Given the description of an element on the screen output the (x, y) to click on. 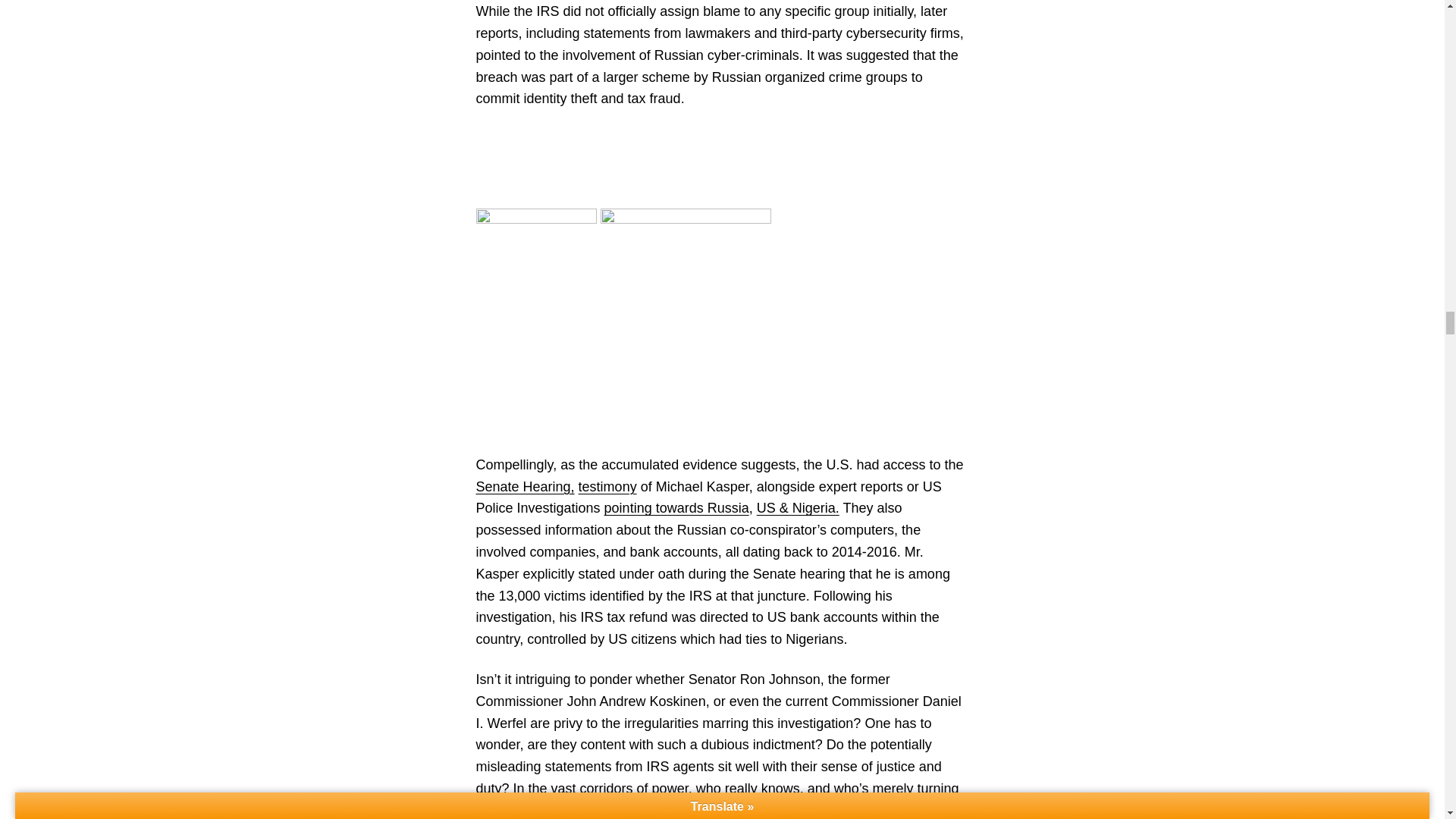
pointing towards Russia (676, 507)
testimony (607, 486)
Senate Hearing, (525, 486)
